Given the description of an element on the screen output the (x, y) to click on. 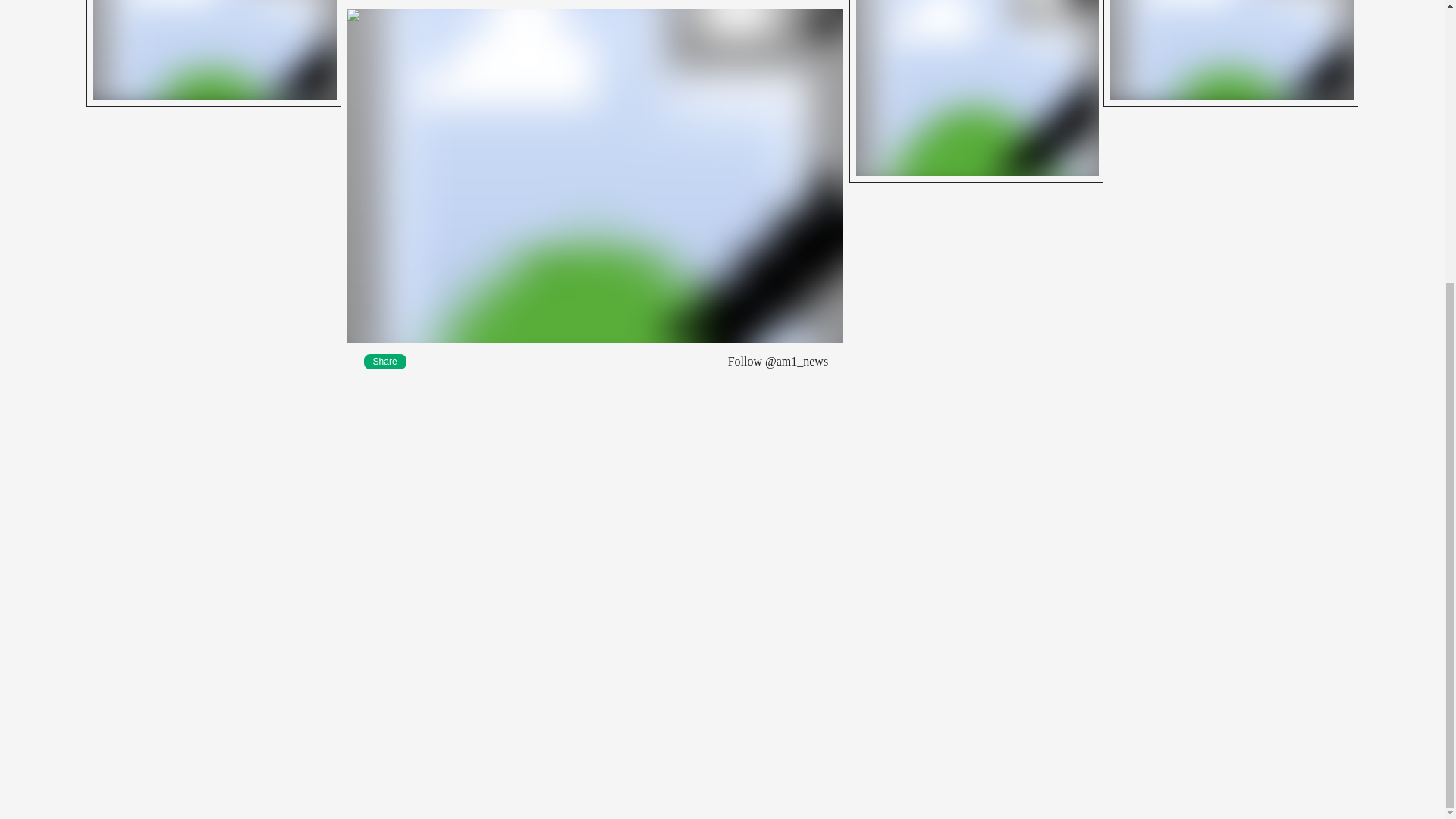
Share (385, 361)
